Given the description of an element on the screen output the (x, y) to click on. 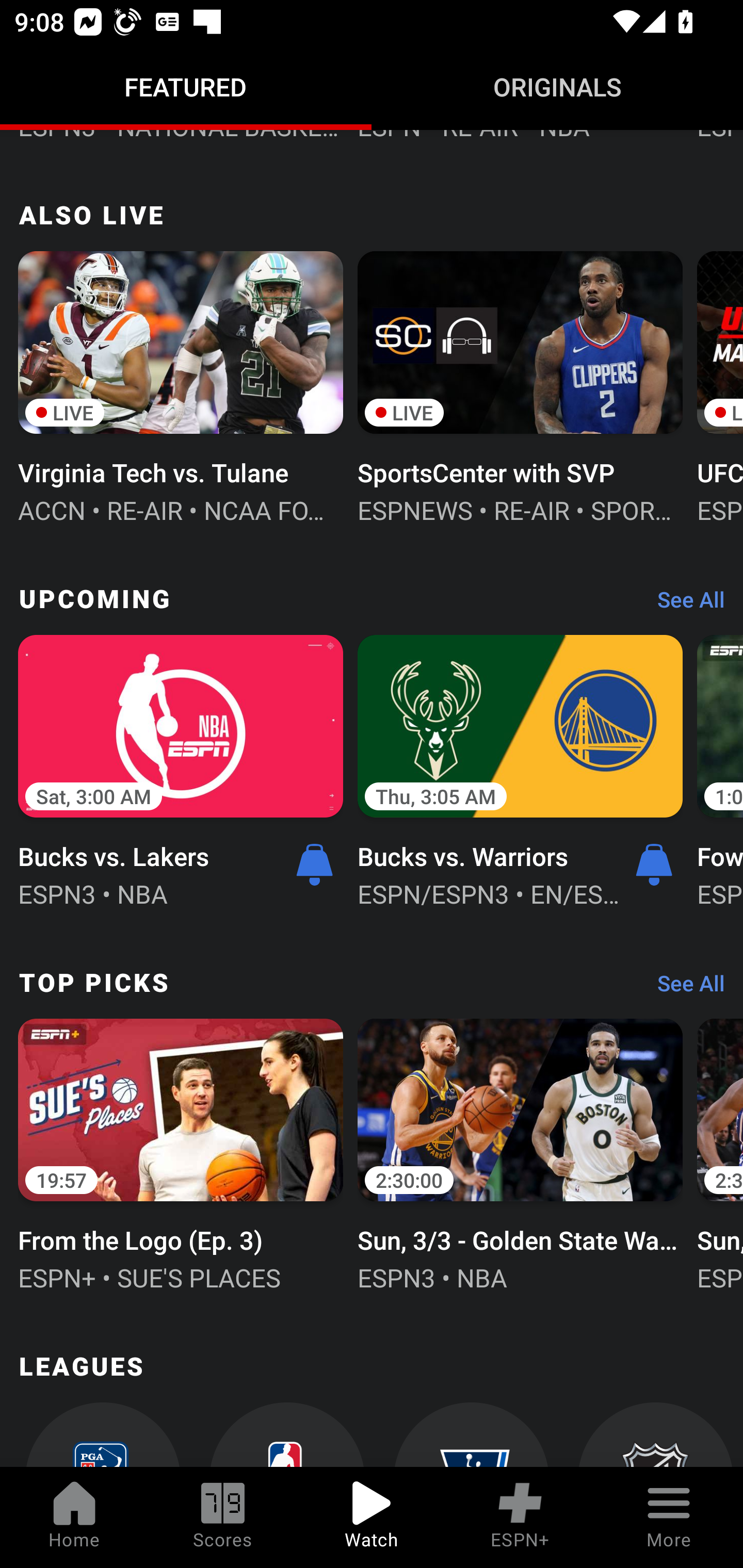
Originals ORIGINALS (557, 86)
See All (683, 604)
See All (683, 987)
19:57 From the Logo (Ep. 3) ESPN+ • SUE'S PLACES (180, 1153)
Home (74, 1517)
Scores (222, 1517)
ESPN+ (519, 1517)
More (668, 1517)
